Given the description of an element on the screen output the (x, y) to click on. 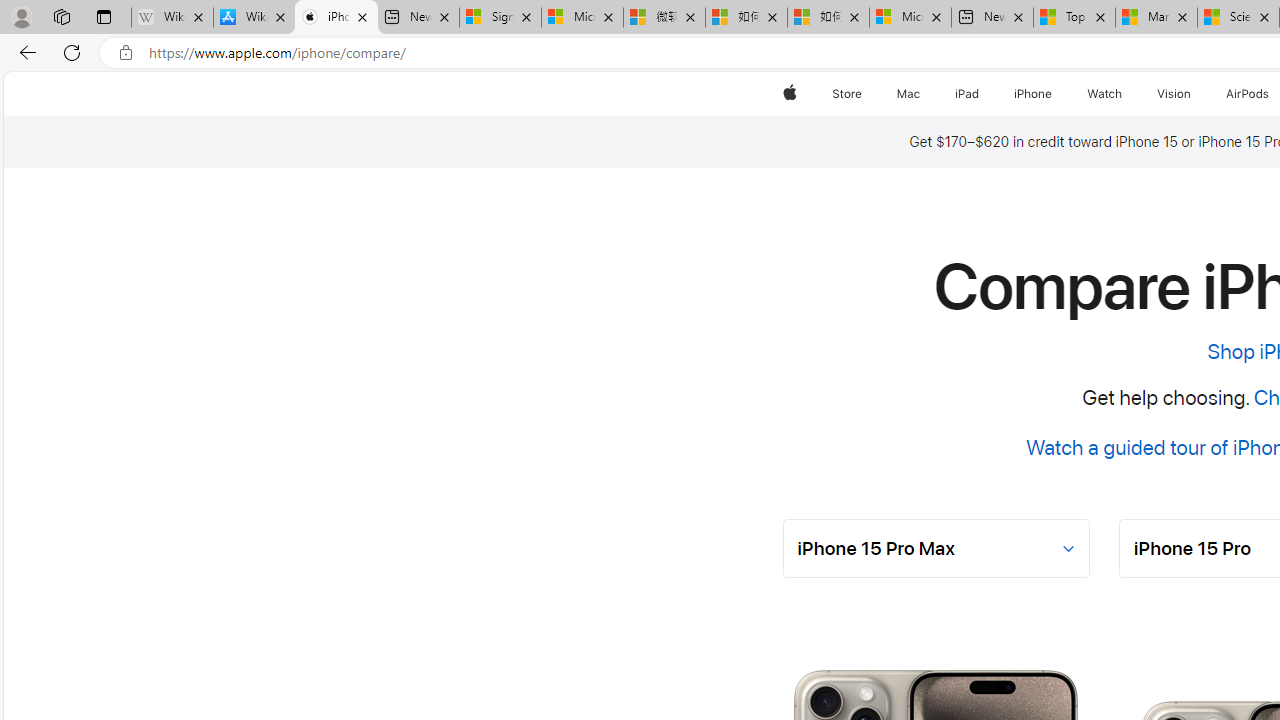
Vision menu (1195, 93)
Vision (1174, 93)
AutomationID: selector-0 (936, 547)
iPad (965, 93)
Store menu (864, 93)
iPad menu (982, 93)
Mac (908, 93)
AirPods (1247, 93)
Store (846, 93)
Mac (908, 93)
